Given the description of an element on the screen output the (x, y) to click on. 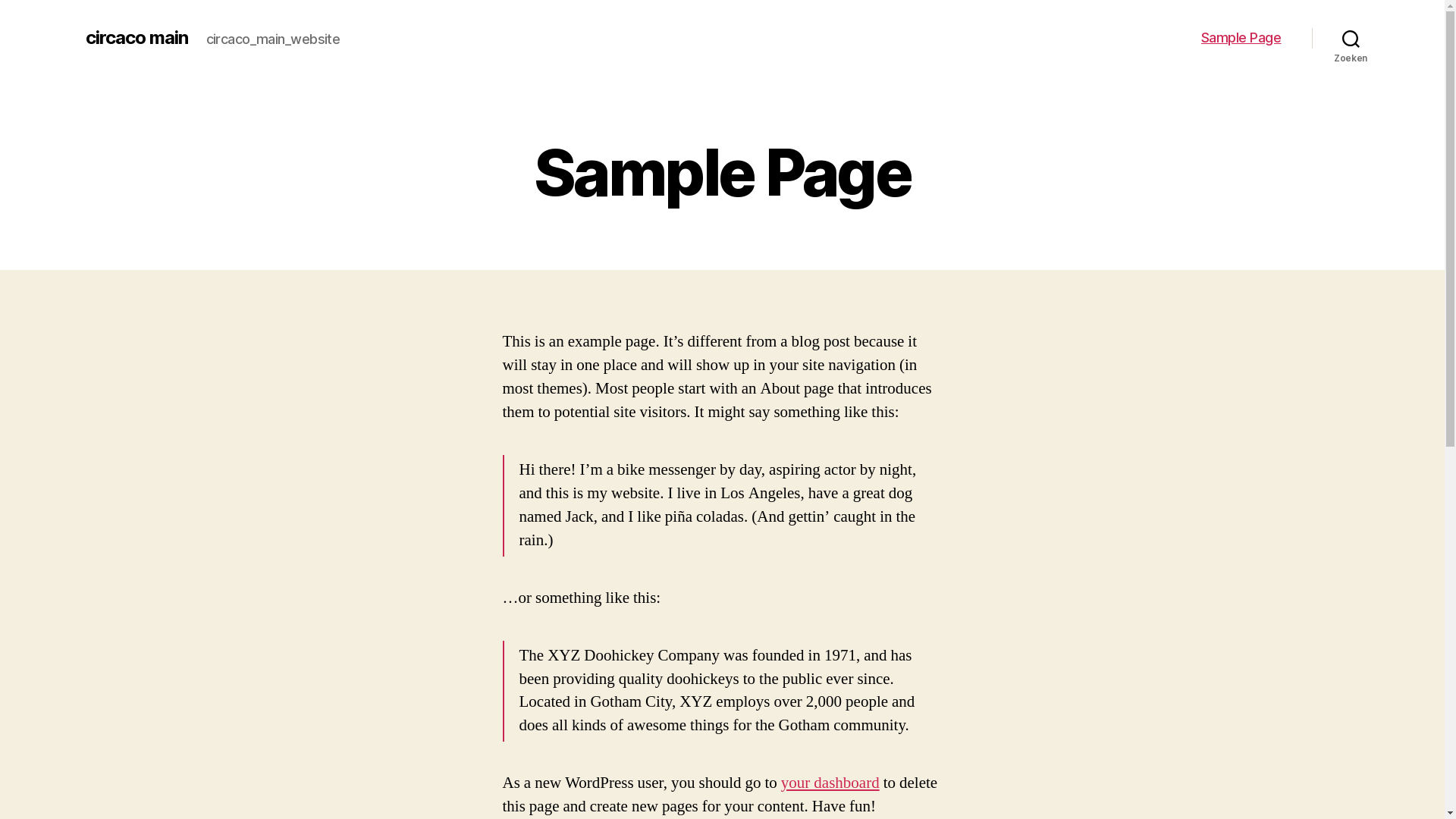
Sample Page Element type: text (1241, 37)
Zoeken Element type: text (1350, 37)
circaco main Element type: text (135, 37)
your dashboard Element type: text (830, 782)
